Given the description of an element on the screen output the (x, y) to click on. 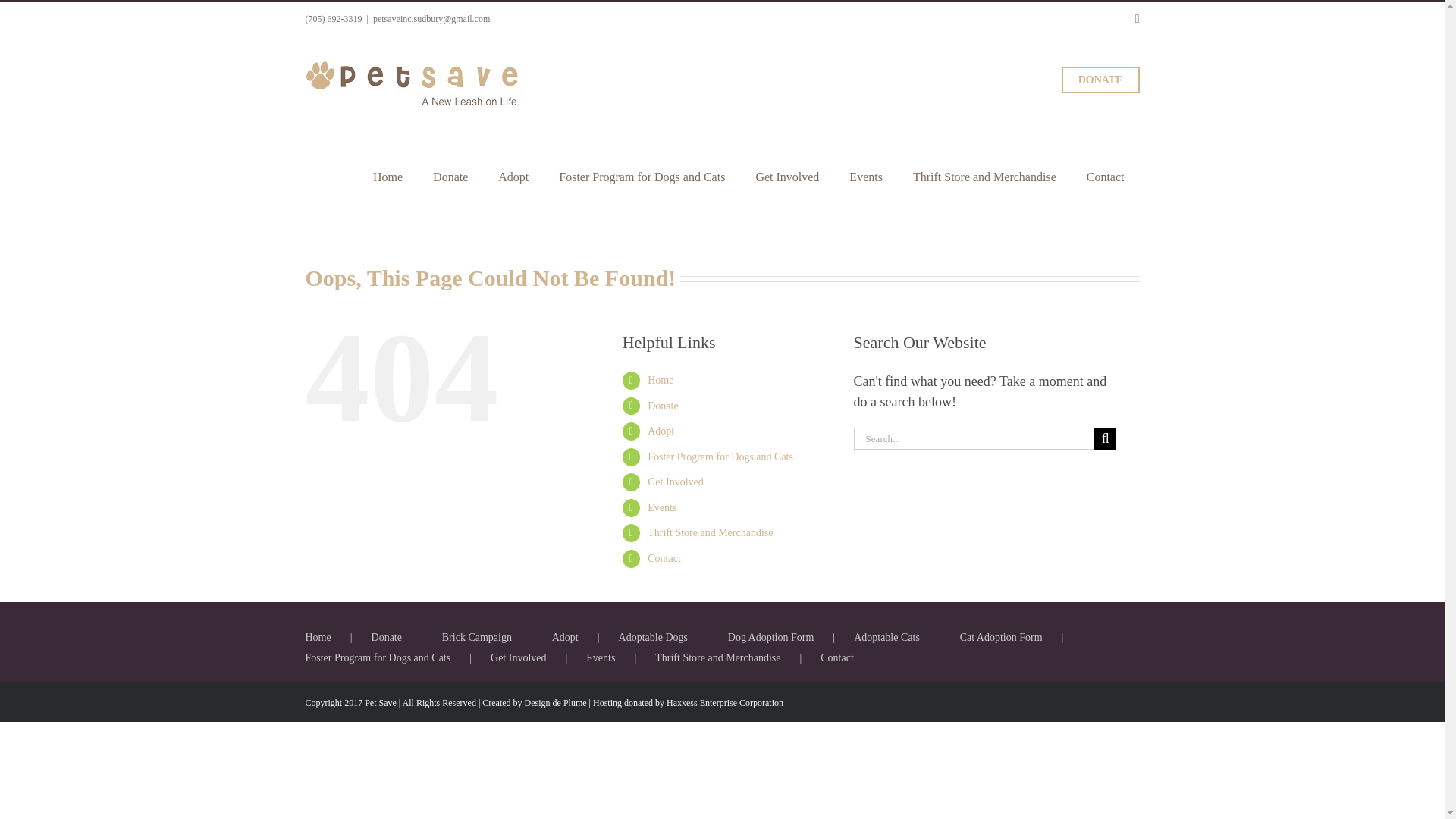
Adopt (513, 177)
Foster Program for Dogs and Cats (641, 177)
Adopt (660, 430)
Contact (1105, 177)
Donate (662, 405)
Home (387, 177)
Facebook (1137, 19)
Donate (450, 177)
DONATE (1100, 79)
Home (659, 379)
Thrift Store and Merchandise (984, 177)
Get Involved (786, 177)
Events (866, 177)
Foster Program for Dogs and Cats (720, 456)
